Given the description of an element on the screen output the (x, y) to click on. 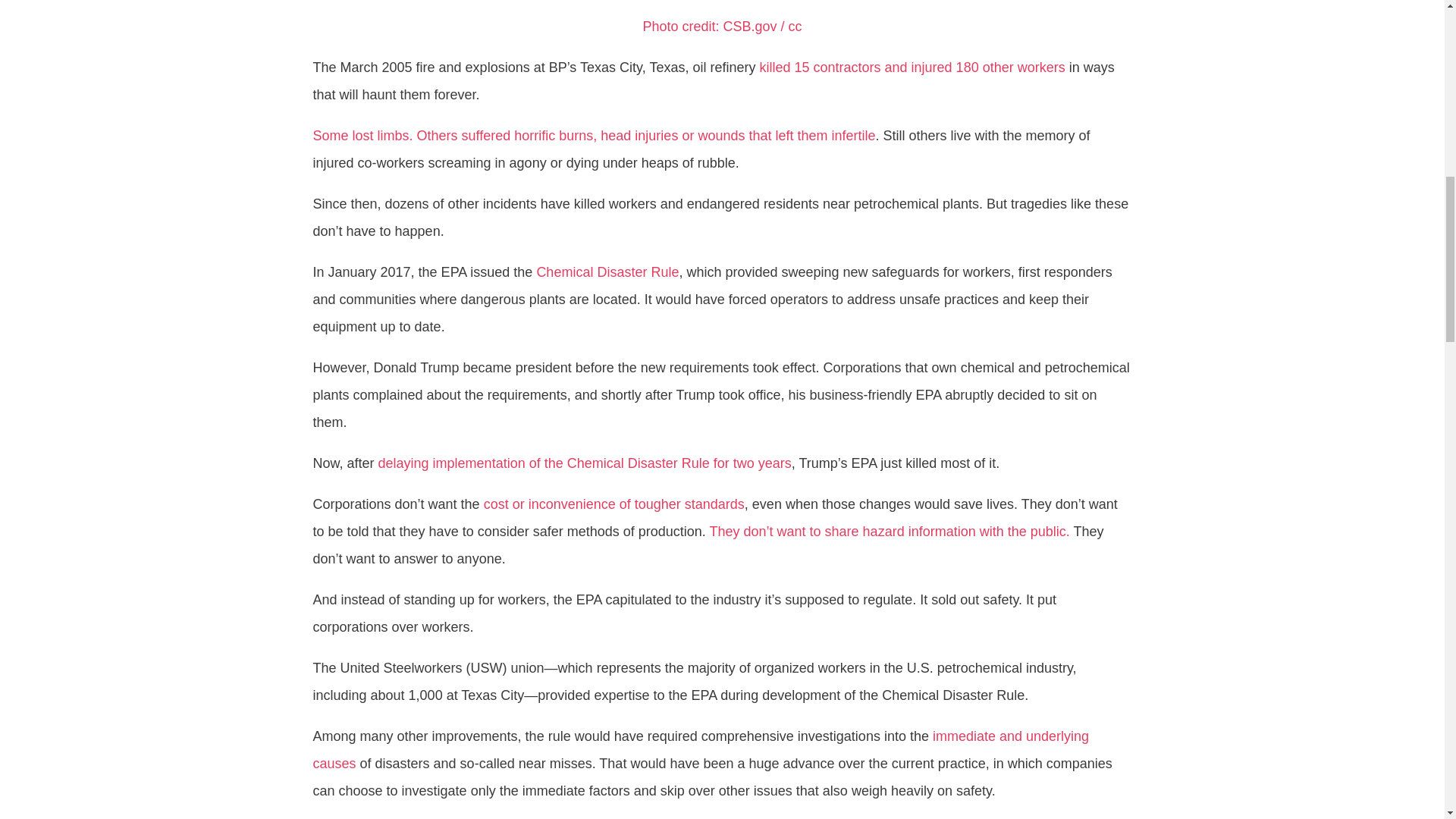
killed 15 contractors and injured 180 other workers (911, 67)
cost or inconvenience of tougher standards (613, 503)
Chemical Disaster Rule (606, 272)
